Given the description of an element on the screen output the (x, y) to click on. 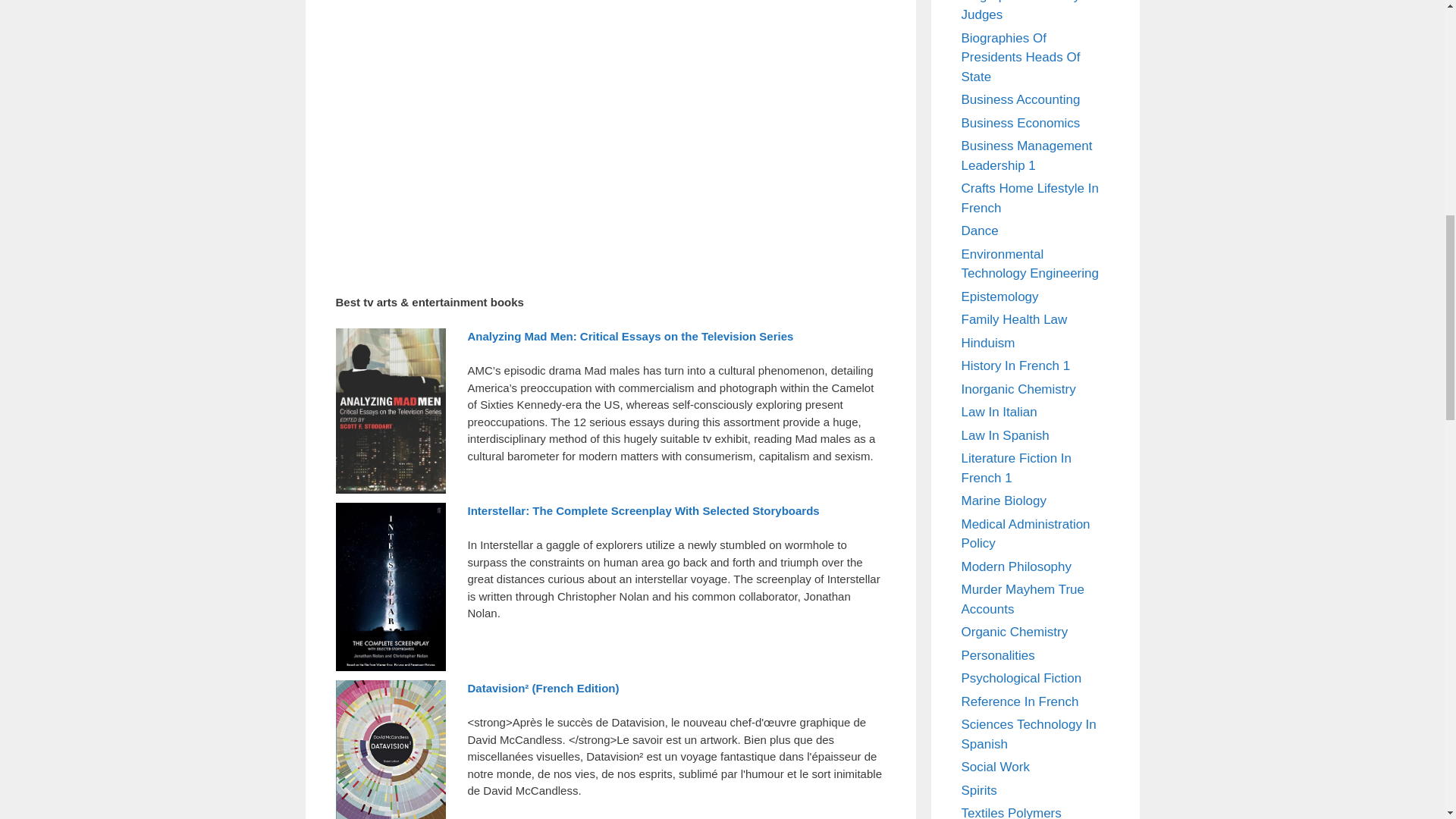
Biographies Of Lawyers Judges (1028, 11)
Biographies Of Presidents Heads Of State (1020, 57)
Analyzing Mad Men: Critical Essays on the Television Series (630, 336)
Business Accounting (1020, 99)
